Given the description of an element on the screen output the (x, y) to click on. 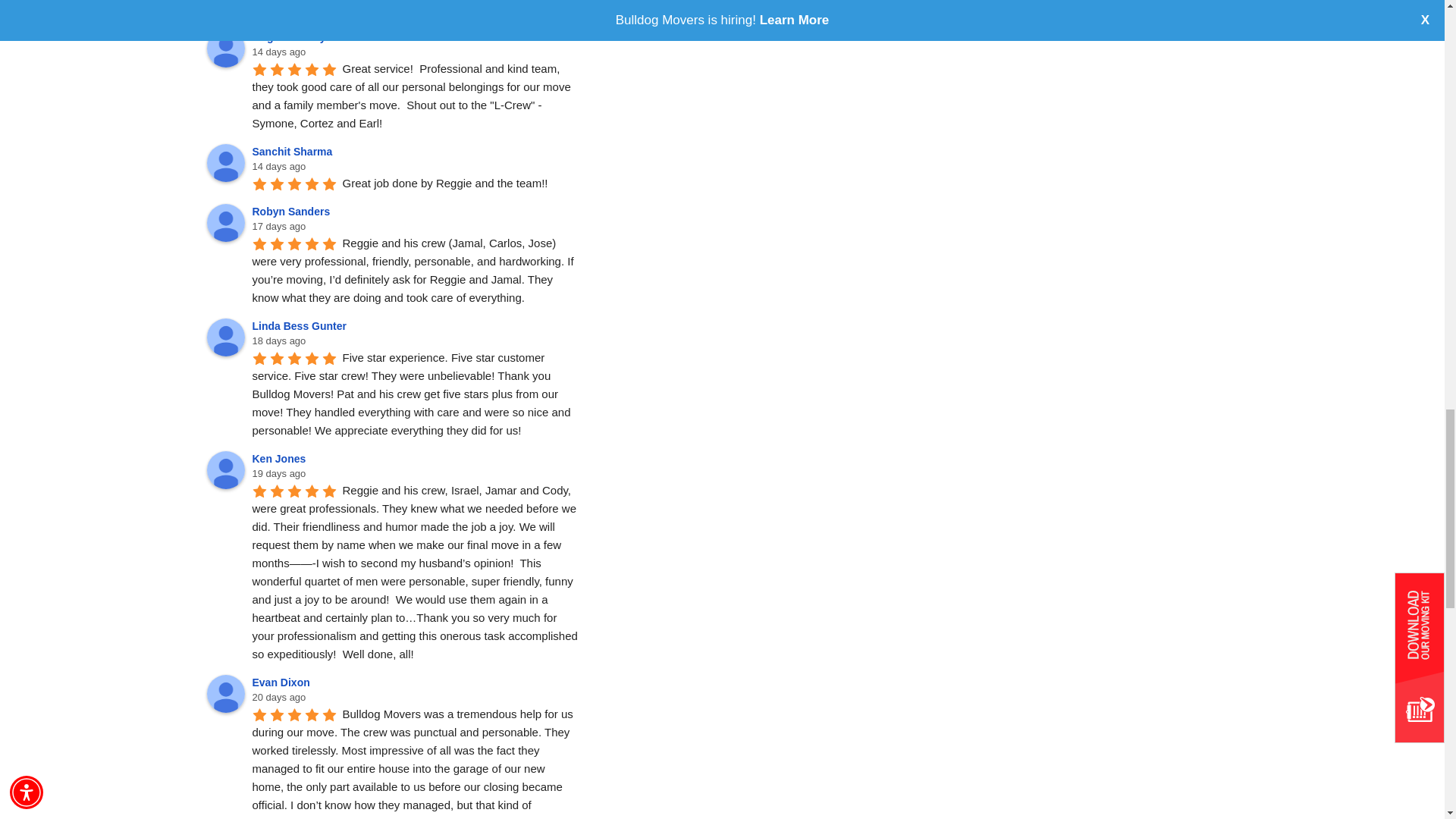
Ken Jones (225, 469)
Linda Bess Gunter (225, 337)
Sanchit Sharma (225, 162)
Robyn Sanders (225, 222)
Meghan Toney (225, 48)
